Given the description of an element on the screen output the (x, y) to click on. 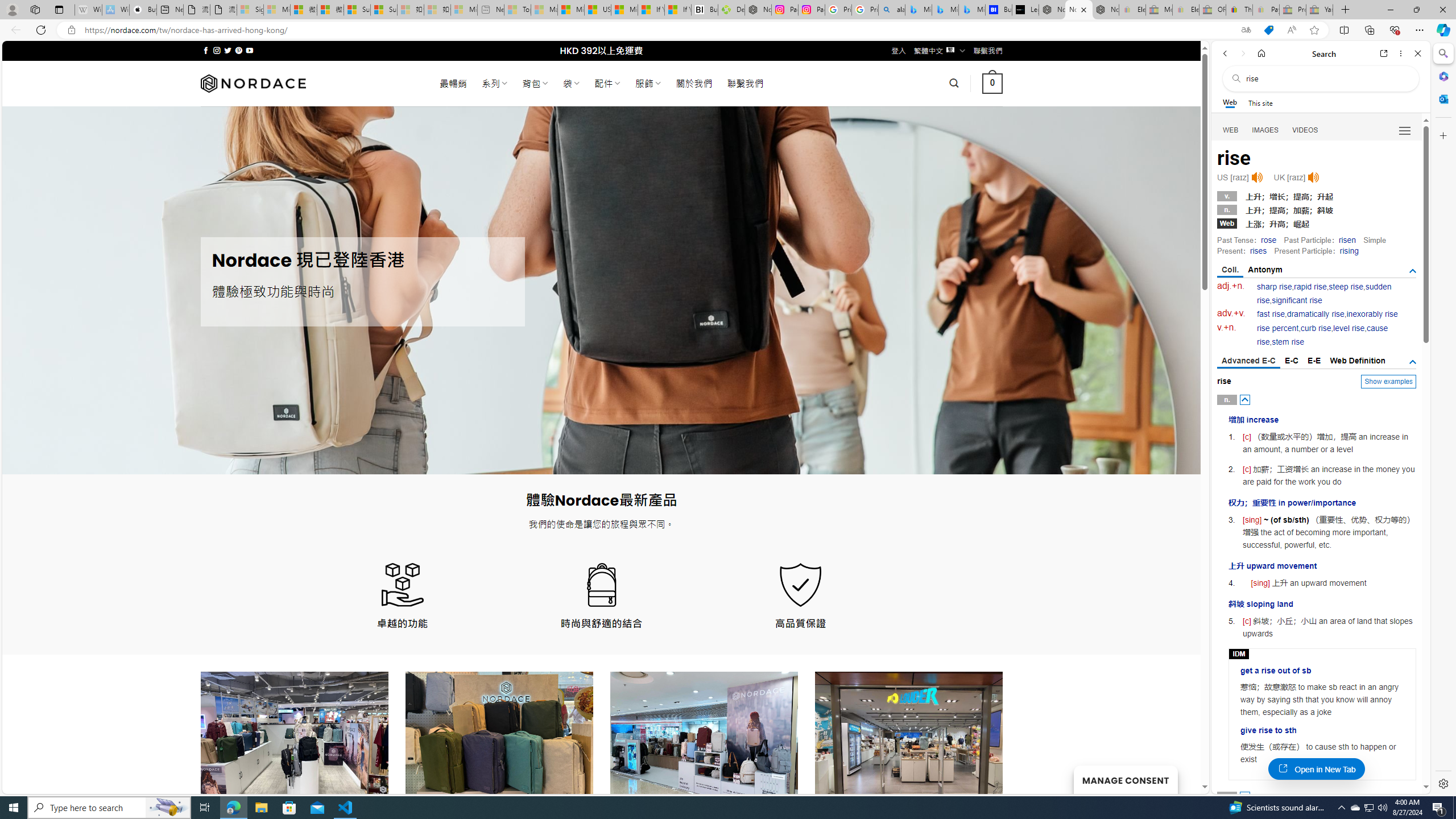
significant rise (1296, 300)
Class: b_serphb (1404, 130)
Microsoft account | Account Checkup - Sleeping (463, 9)
Descarga Driver Updater (731, 9)
dramatically rise (1315, 313)
level rise (1349, 328)
Microsoft Bing Travel - Flights from Hong Kong to Bangkok (917, 9)
Follow on YouTube (249, 50)
inexorably rise (1371, 313)
